Given the description of an element on the screen output the (x, y) to click on. 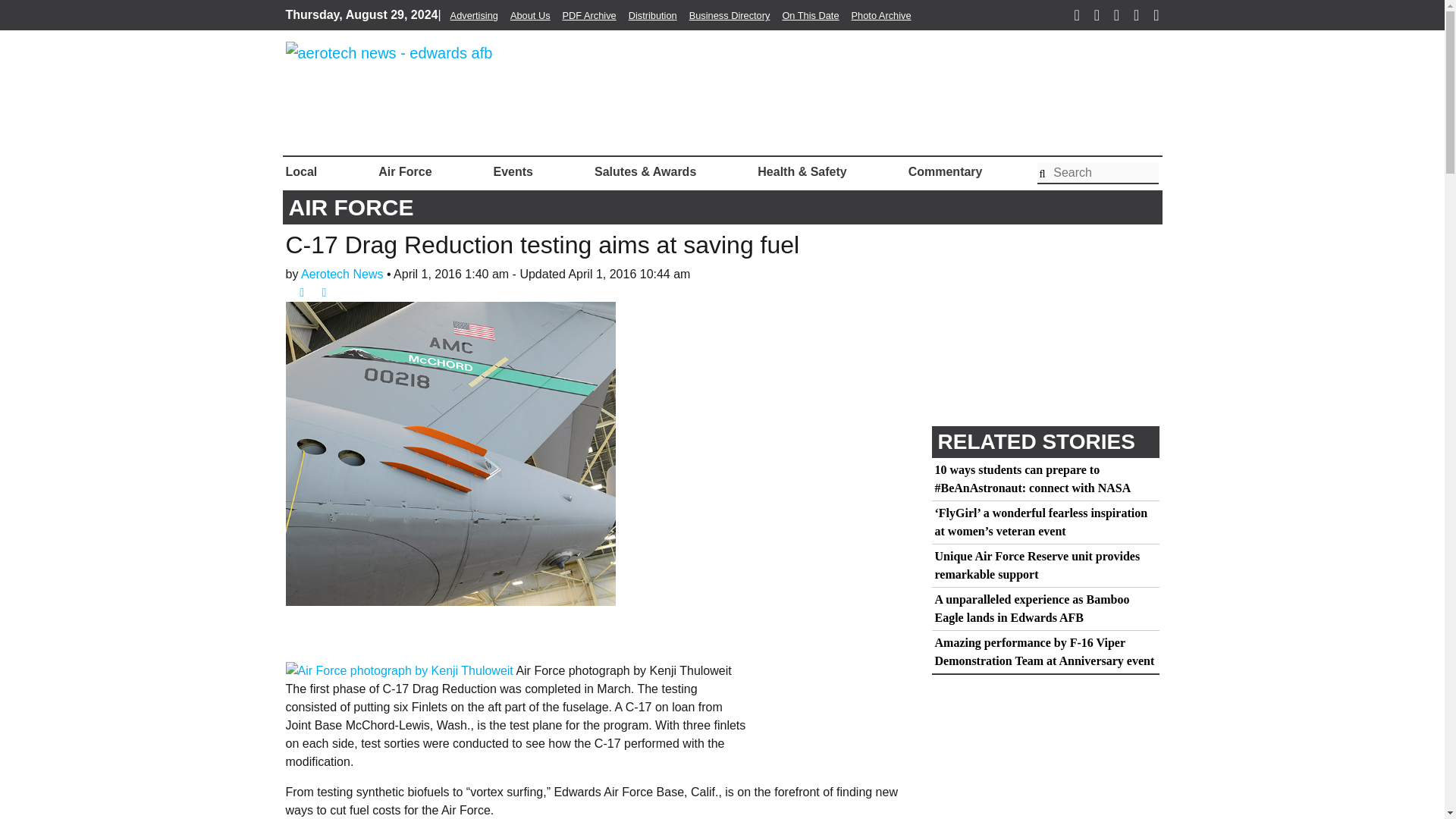
Air Force (405, 172)
Commentary (945, 172)
Photo Archive (881, 15)
Search (1097, 173)
Post to Reddit (338, 291)
Commentary (945, 172)
Events (512, 172)
Business Directory (729, 15)
AIR FORCE (350, 207)
Post to Facebook (296, 291)
